Given the description of an element on the screen output the (x, y) to click on. 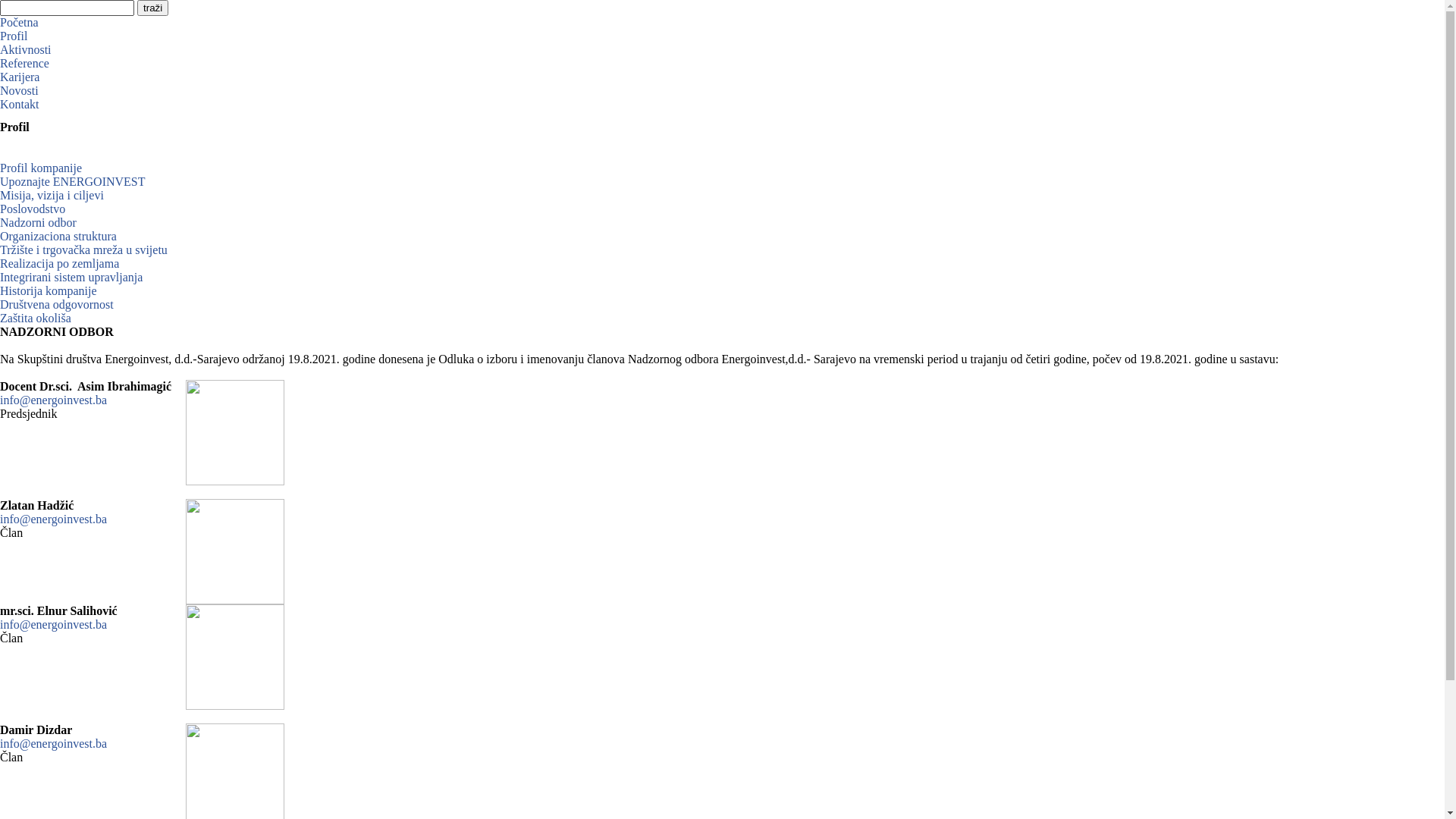
BOSANSKI Element type: text (206, 8)
info@energoinvest.ba Element type: text (53, 624)
Karijera Element type: text (19, 76)
Upoznajte ENERGOINVEST Element type: text (72, 181)
info@energoinvest.ba Element type: text (53, 399)
Kontakt Element type: text (19, 103)
Organizaciona struktura Element type: text (58, 235)
info@energoinvest.ba Element type: text (53, 518)
Profil kompanije Element type: text (40, 167)
Misija, vizija i ciljevi Element type: text (51, 194)
Realizacija po zemljama Element type: text (59, 263)
Historija kompanije Element type: text (48, 290)
Reference Element type: text (24, 62)
Aktivnosti Element type: text (25, 49)
Nadzorni odbor Element type: text (38, 222)
ENGLISH Element type: text (265, 8)
info@energoinvest.ba Element type: text (53, 743)
Integrirani sistem upravljanja Element type: text (71, 276)
Profil Element type: text (13, 35)
Poslovodstvo Element type: text (32, 208)
Novosti Element type: text (19, 90)
